Given the description of an element on the screen output the (x, y) to click on. 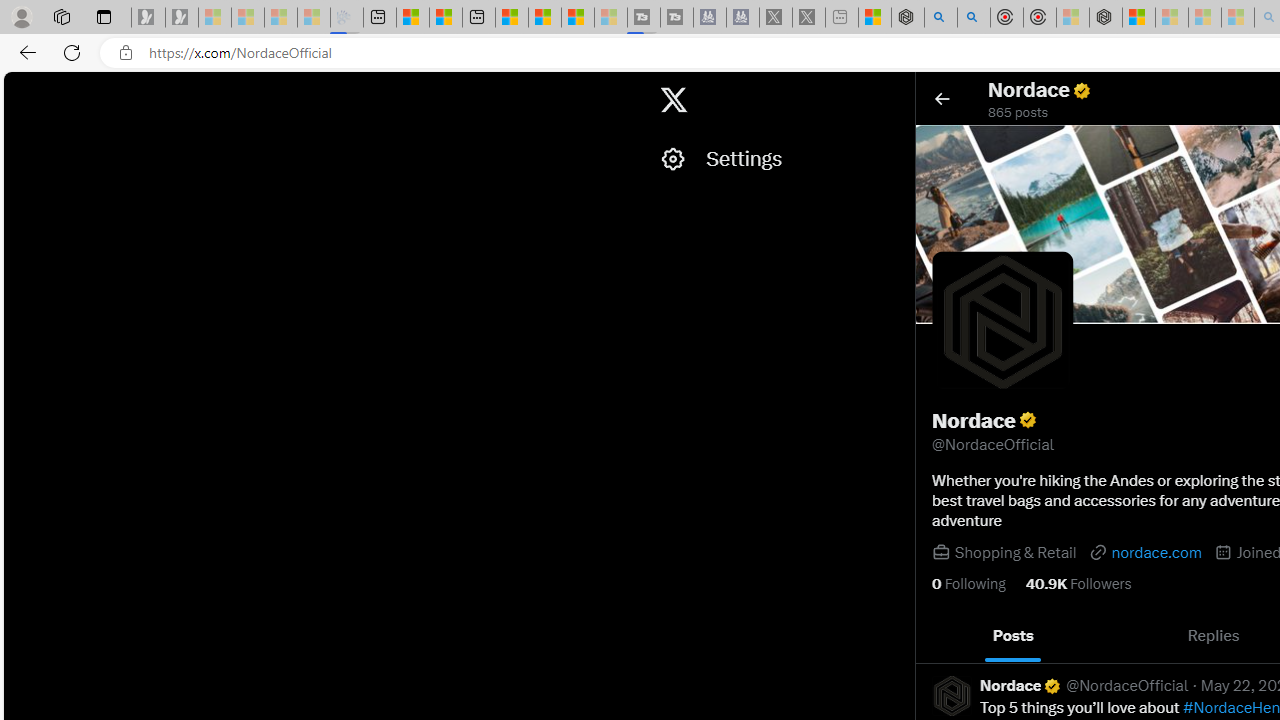
Provides details about verified accounts. (1027, 420)
Nordace Verified account (1021, 685)
nordace.com (1144, 552)
Square profile picture (952, 695)
40.9K Followers (1078, 583)
